Given the description of an element on the screen output the (x, y) to click on. 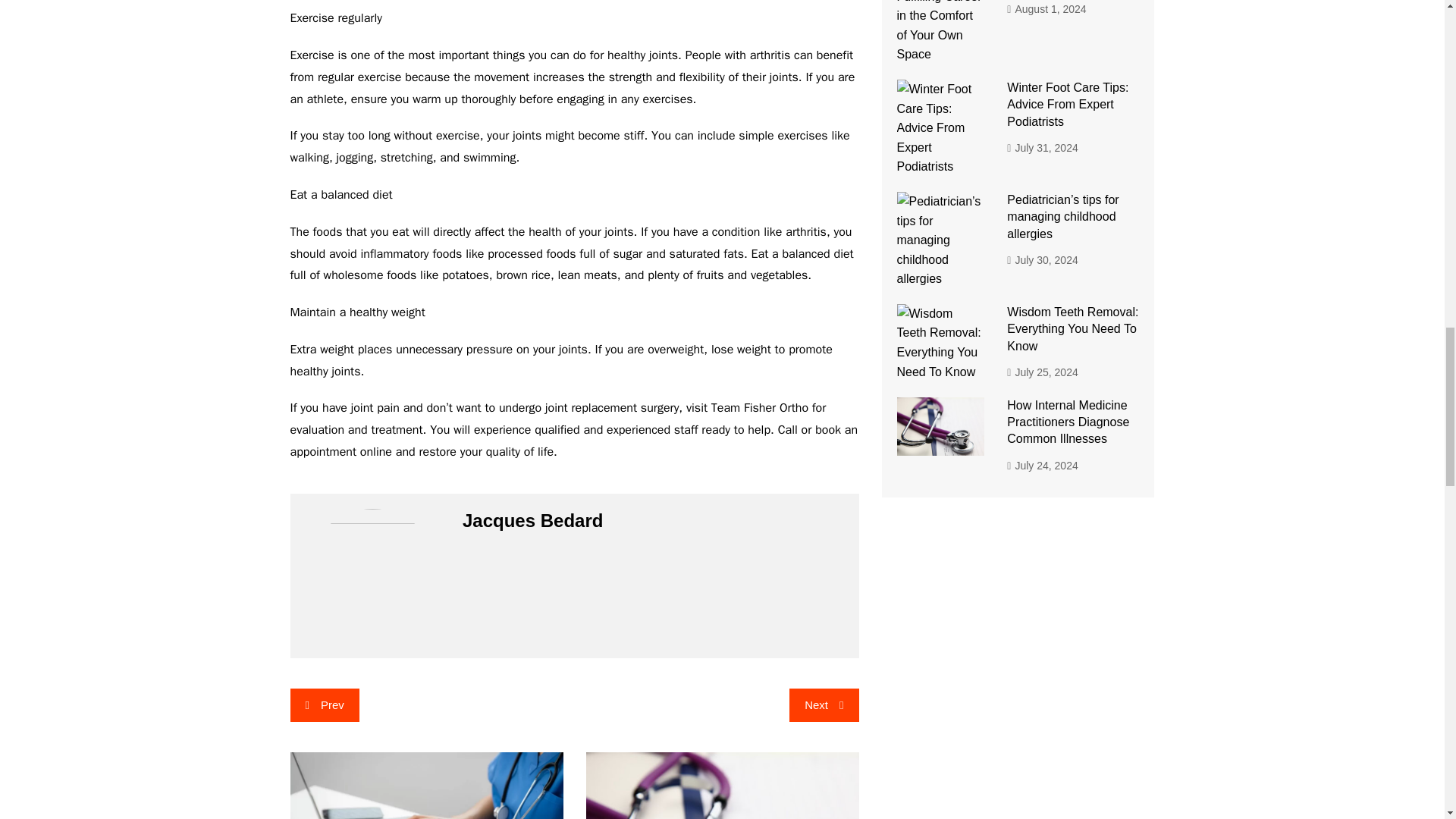
Next (824, 704)
Prev (323, 704)
